Given the description of an element on the screen output the (x, y) to click on. 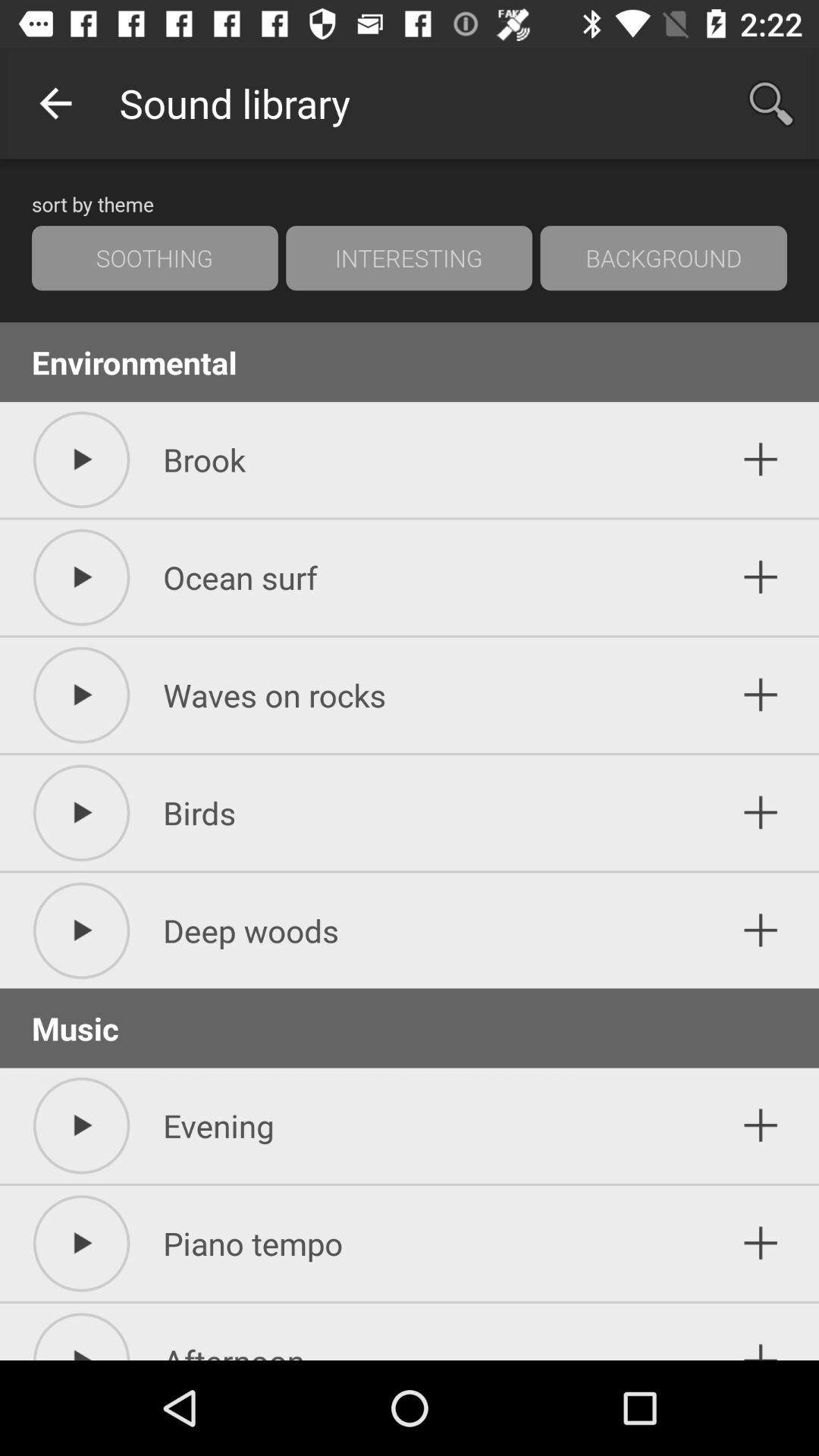
press the icon next to interesting (663, 257)
